Given the description of an element on the screen output the (x, y) to click on. 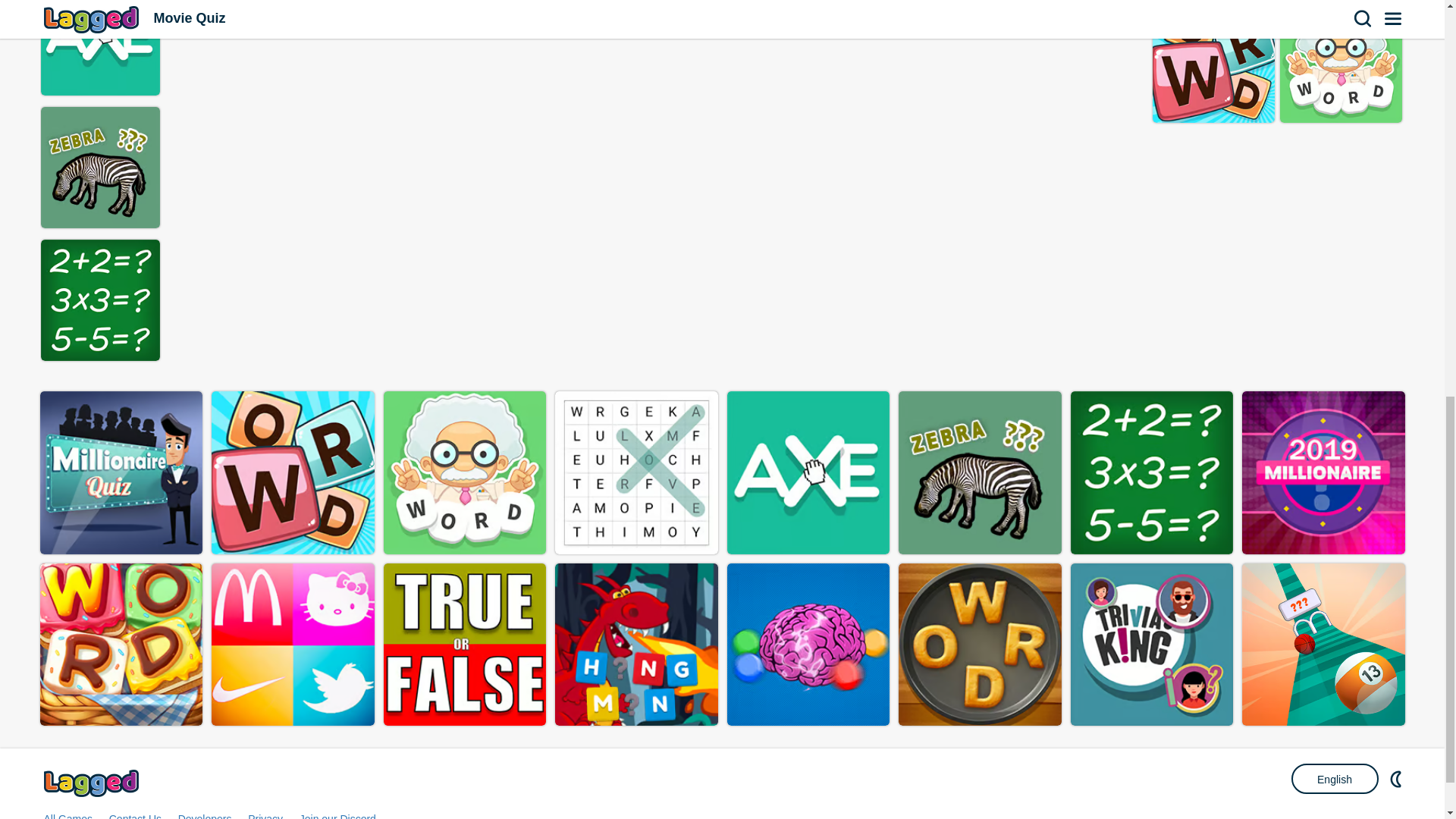
Lagged.com (92, 782)
